Given the description of an element on the screen output the (x, y) to click on. 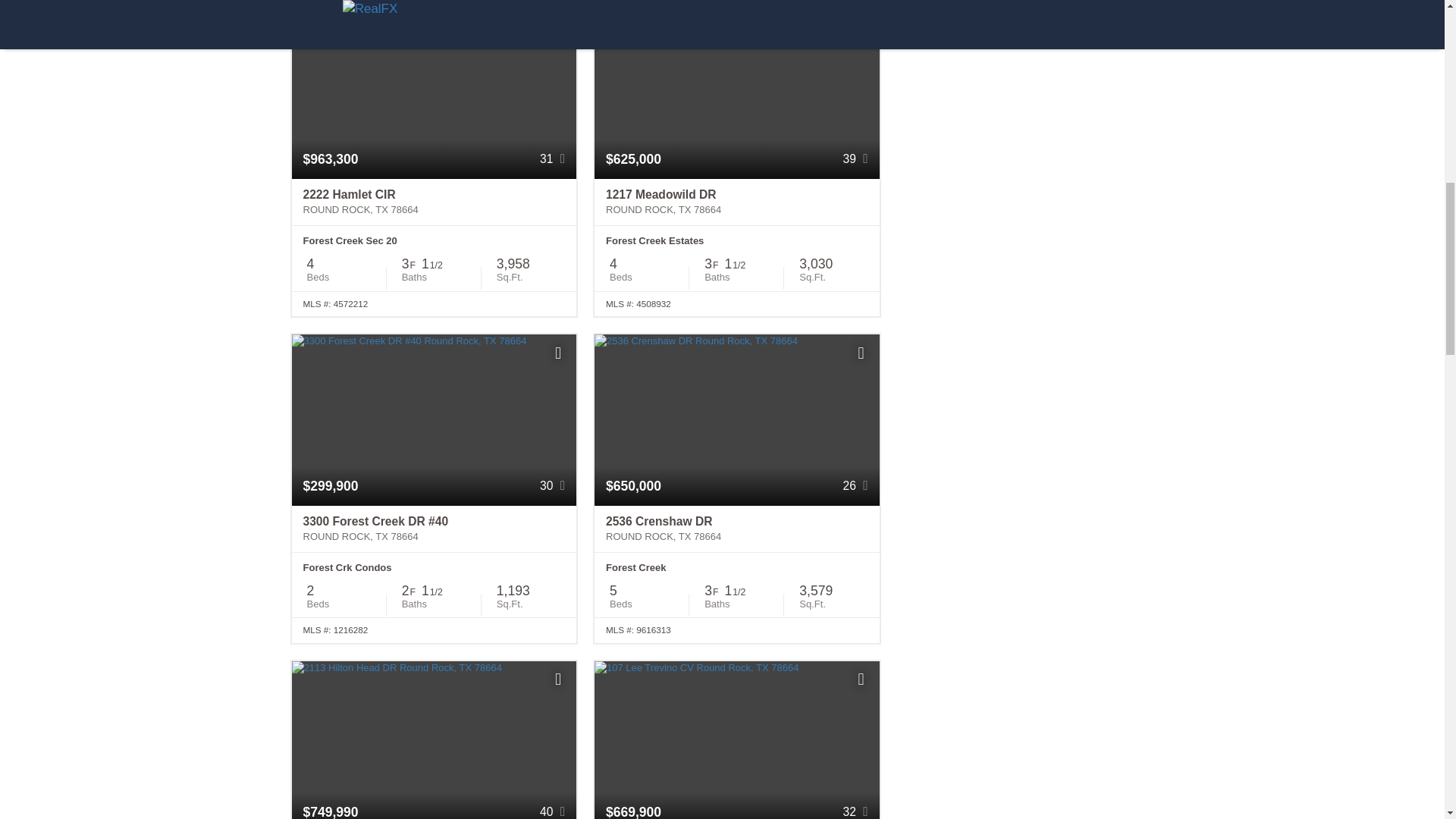
2222 Hamlet CIR Round Rock,  TX 78664 (433, 202)
2536 Crenshaw DR Round Rock,  TX 78664 (736, 529)
1217 Meadowild DR Round Rock,  TX 78664 (736, 202)
